Given the description of an element on the screen output the (x, y) to click on. 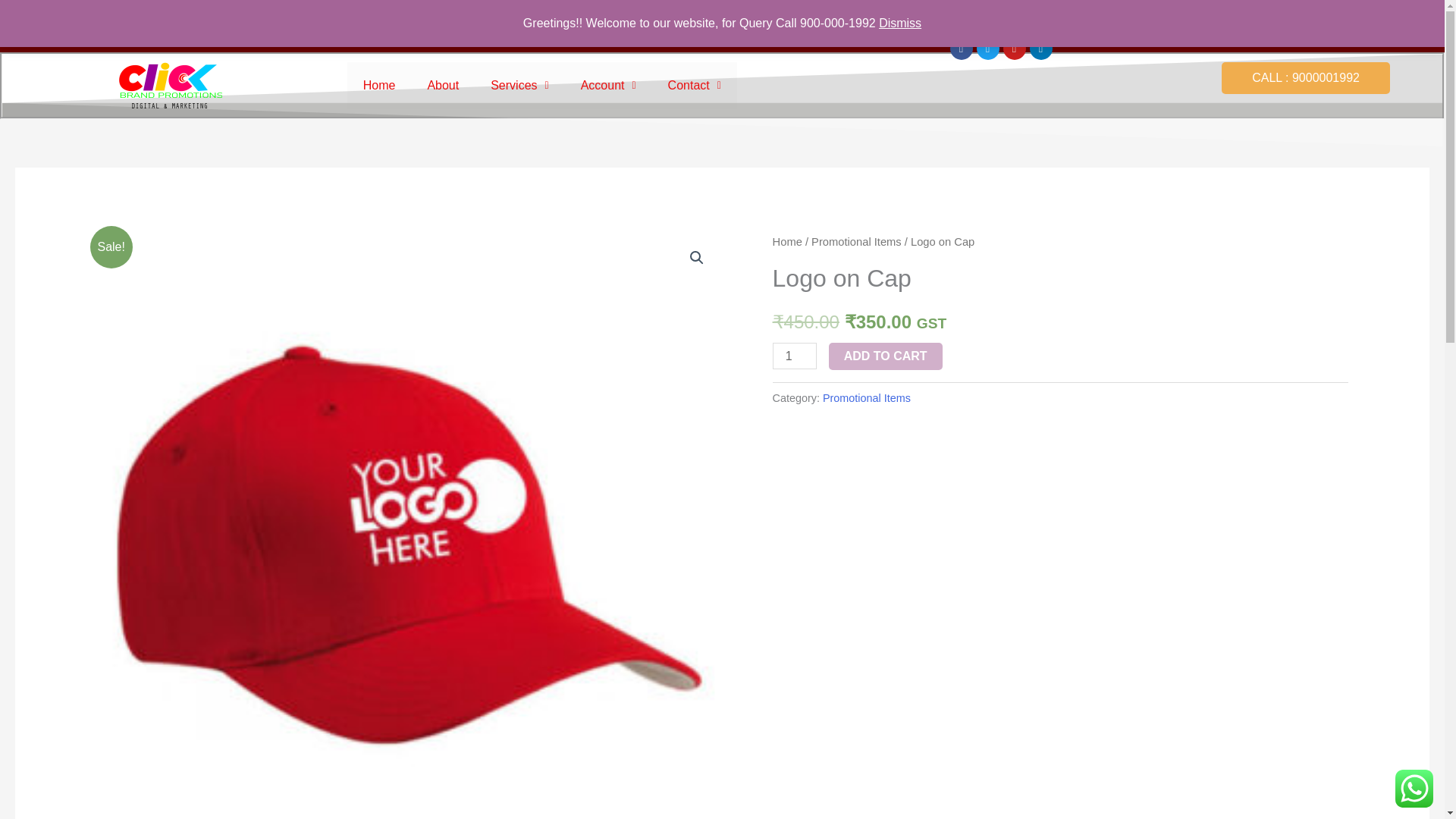
Linkedin (1040, 47)
1 (794, 356)
ADD TO CART (885, 356)
Twitter (987, 47)
Facebook (960, 47)
Home (787, 241)
Services (519, 85)
Promotional Items (855, 241)
Account (608, 85)
